Given the description of an element on the screen output the (x, y) to click on. 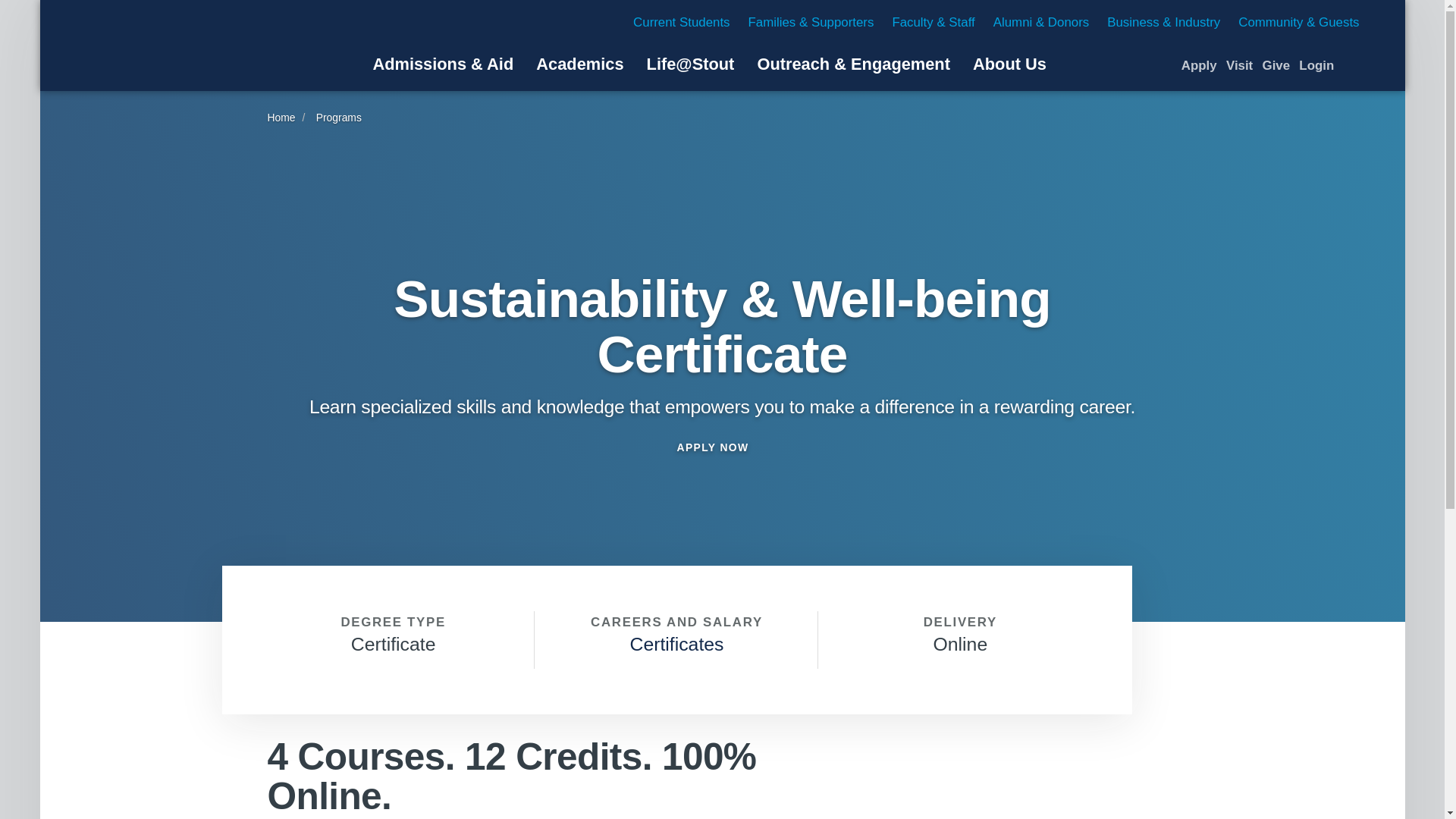
About Us (1009, 63)
University of Wisconsin-Stout (167, 45)
Common Logins for UW-Stout (1315, 65)
Academics (579, 63)
Current Students (681, 22)
University of Wisconsin-Stout (167, 45)
